Given the description of an element on the screen output the (x, y) to click on. 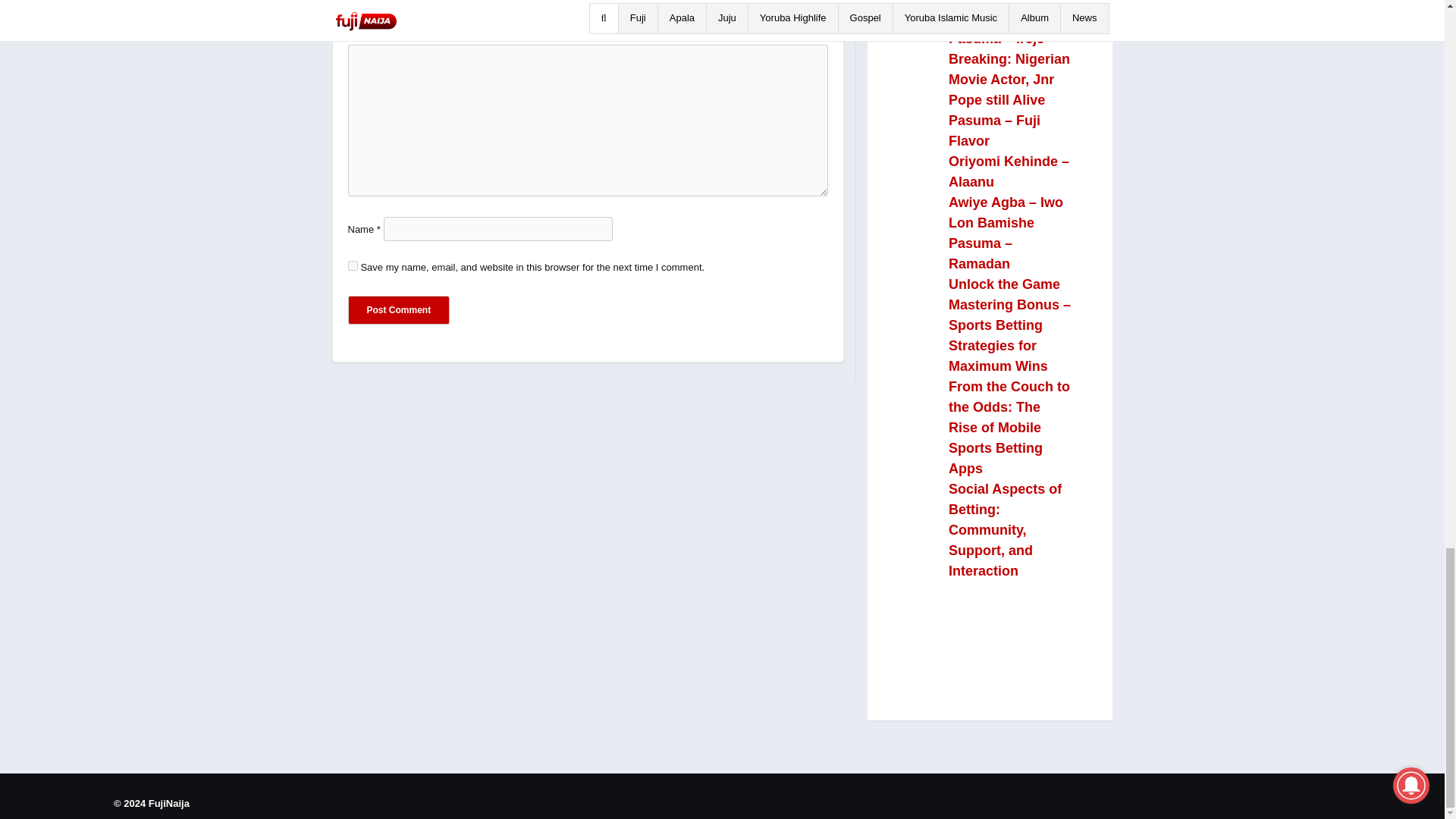
yes (351, 266)
Post Comment (398, 309)
